Given the description of an element on the screen output the (x, y) to click on. 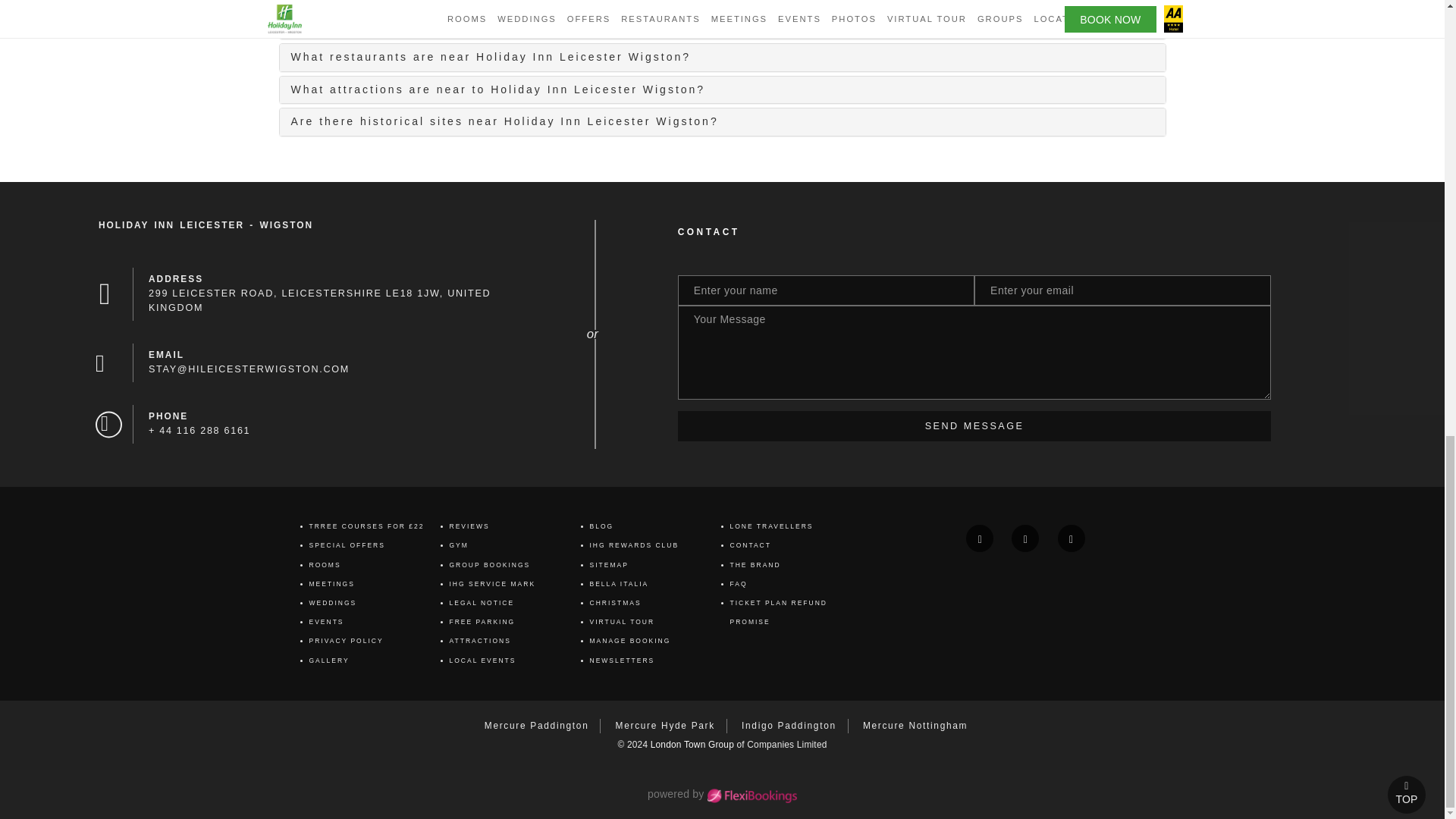
Send Message (974, 426)
